Given the description of an element on the screen output the (x, y) to click on. 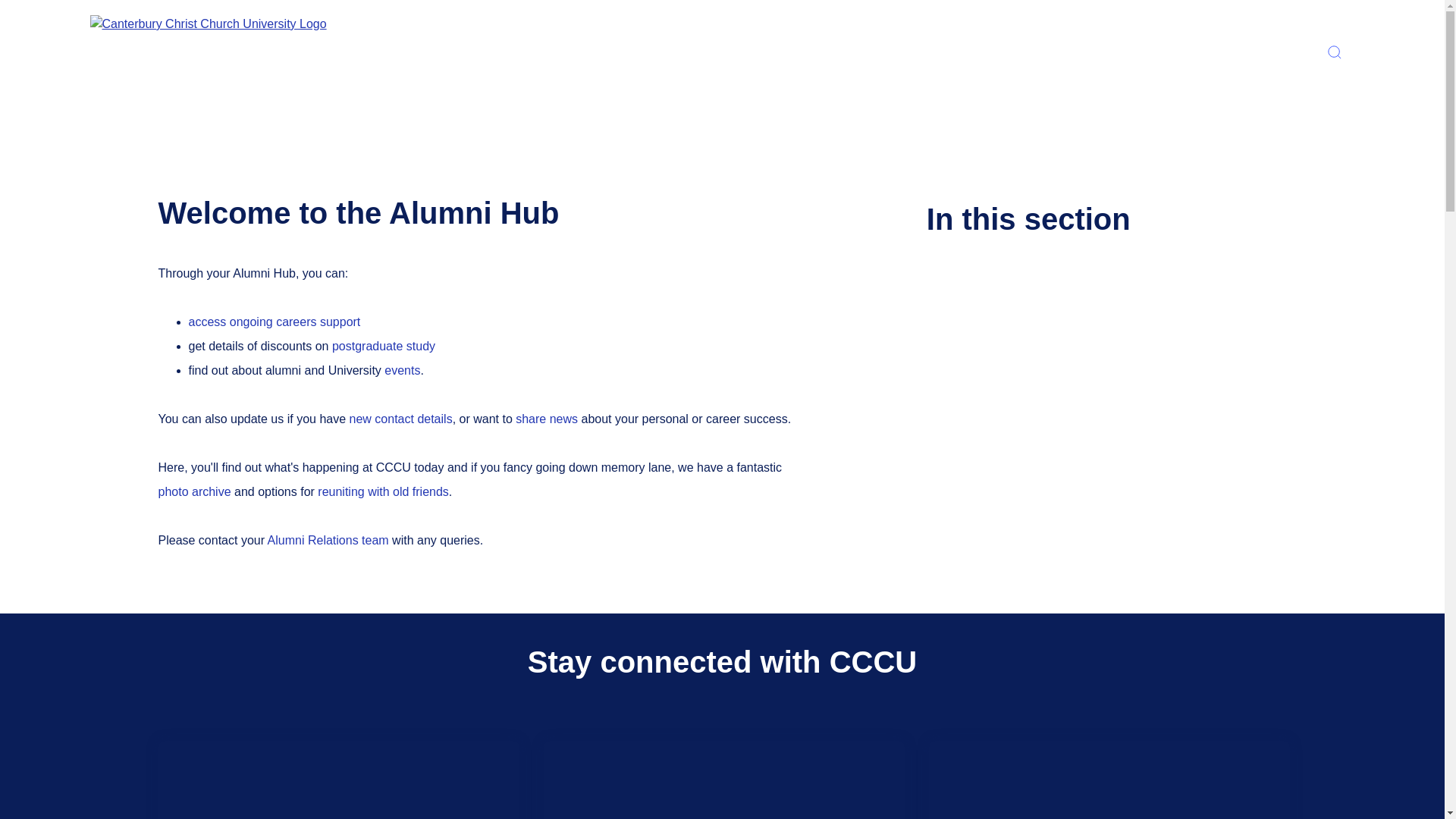
Find out how to update your contact details on our database (400, 418)
share news (546, 418)
access ongoing careers support (273, 321)
Toggle search (1333, 51)
events (402, 369)
Alumni Relations team (327, 540)
Search for alumni events (402, 369)
Find out more about postgraduate and short courses  (383, 345)
photo archive (195, 491)
